Given the description of an element on the screen output the (x, y) to click on. 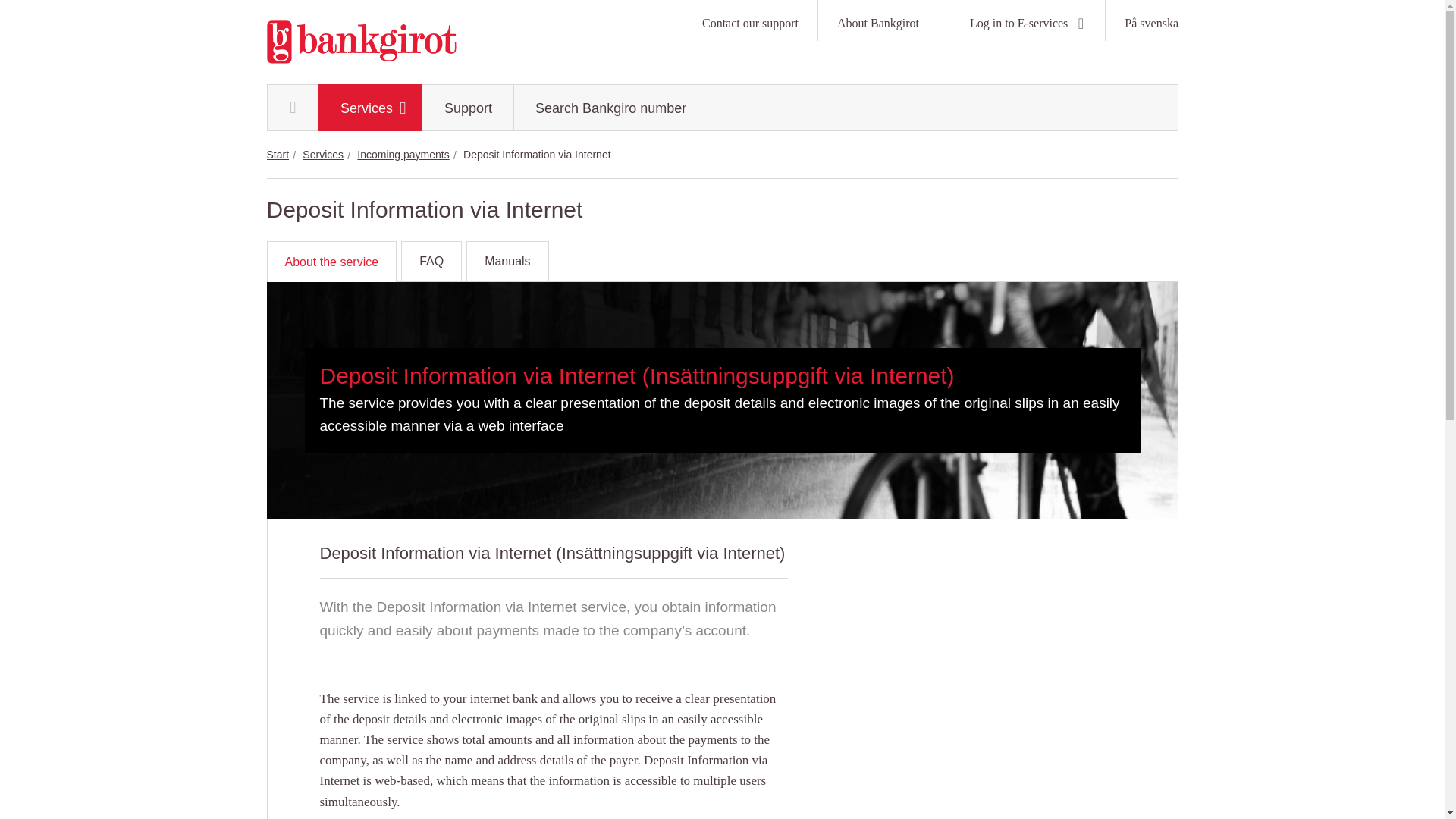
Start (292, 107)
Services (370, 107)
About Bankgirot (880, 20)
Log in to E-services (1024, 20)
Start (277, 154)
Contact our support (749, 20)
Support (468, 107)
Search Bankgiro number (610, 107)
